Given the description of an element on the screen output the (x, y) to click on. 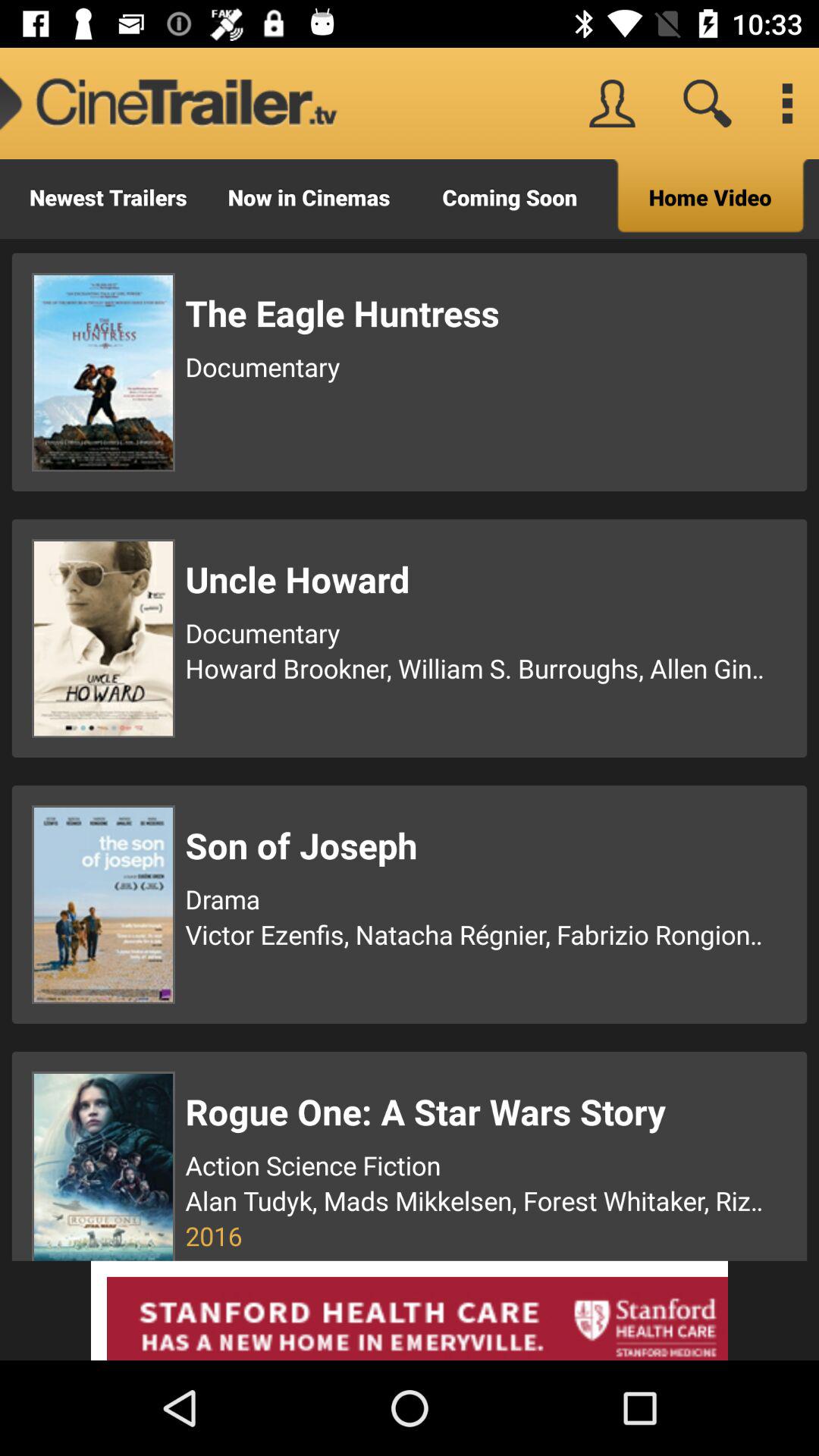
launch the eagle huntress icon (476, 312)
